Given the description of an element on the screen output the (x, y) to click on. 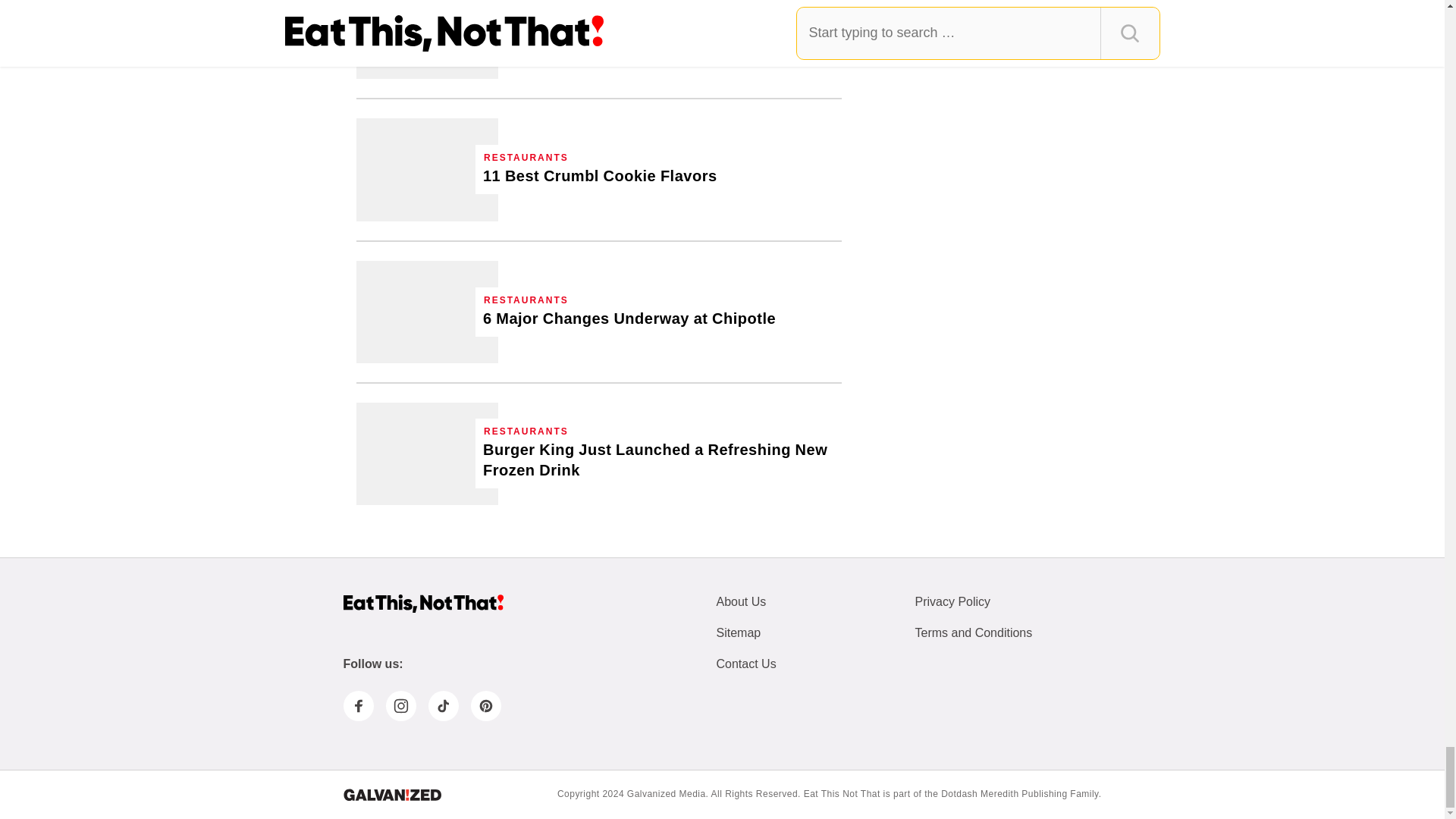
11 Best Crumbl Cookie Flavors, According to Customers (426, 168)
6 Major Changes Underway at Chipotle (426, 312)
11 Best Crumbl Cookie Flavors, According to Customers (600, 176)
Burger King Just Launched a Refreshing New Frozen Drink (426, 453)
6 Major Changes Underway at Chipotle (629, 318)
